Given the description of an element on the screen output the (x, y) to click on. 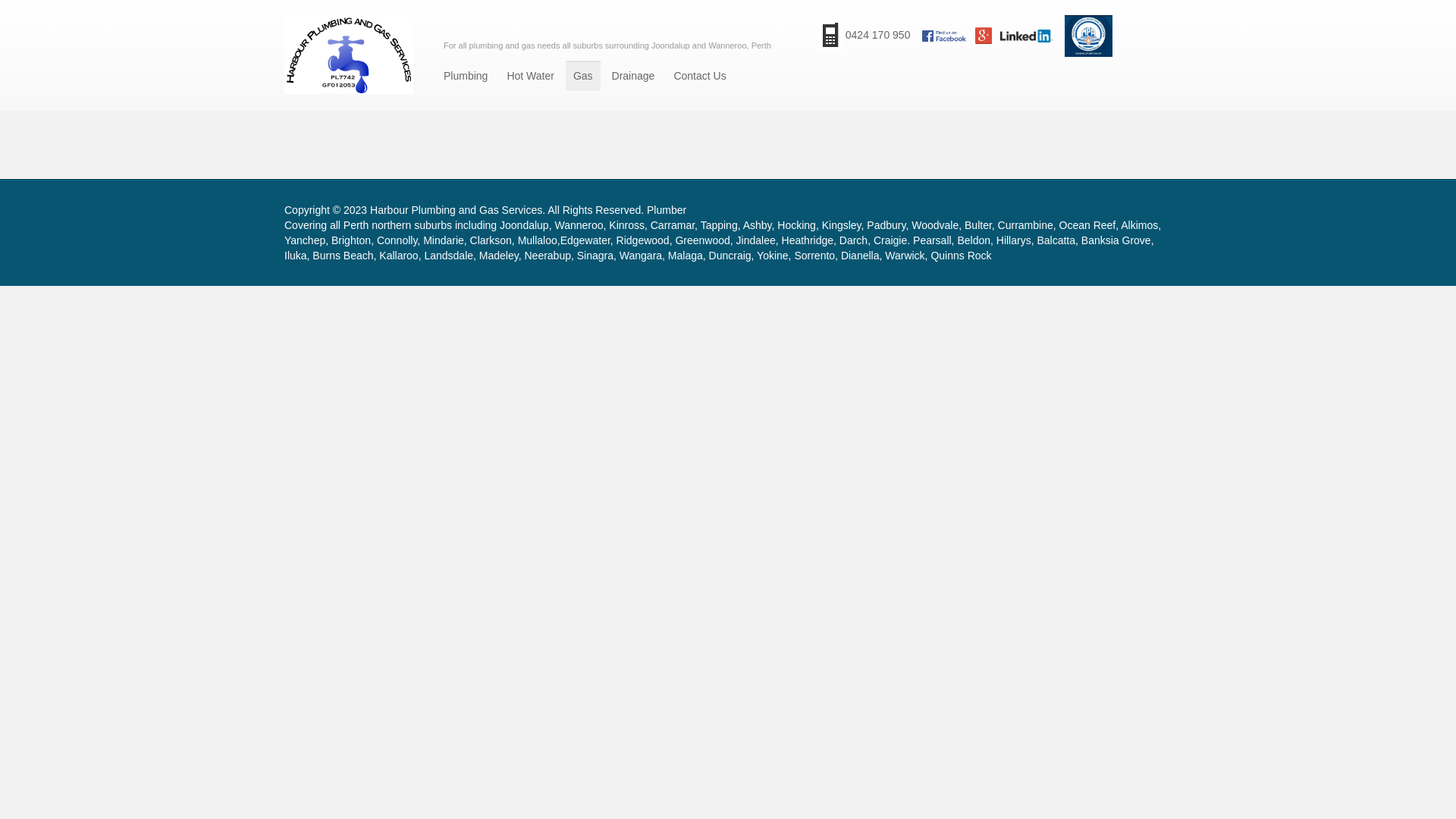
Gas Element type: text (582, 75)
Contact Us Element type: text (699, 75)
Plumbing Element type: text (465, 75)
Hot Water Element type: text (529, 75)
Drainage Element type: text (633, 75)
